Given the description of an element on the screen output the (x, y) to click on. 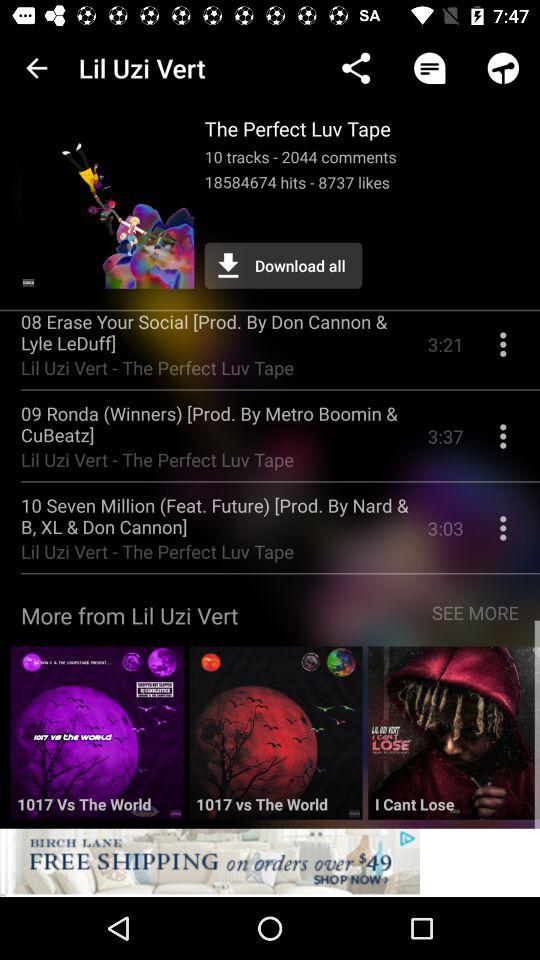
album cover (275, 740)
